Given the description of an element on the screen output the (x, y) to click on. 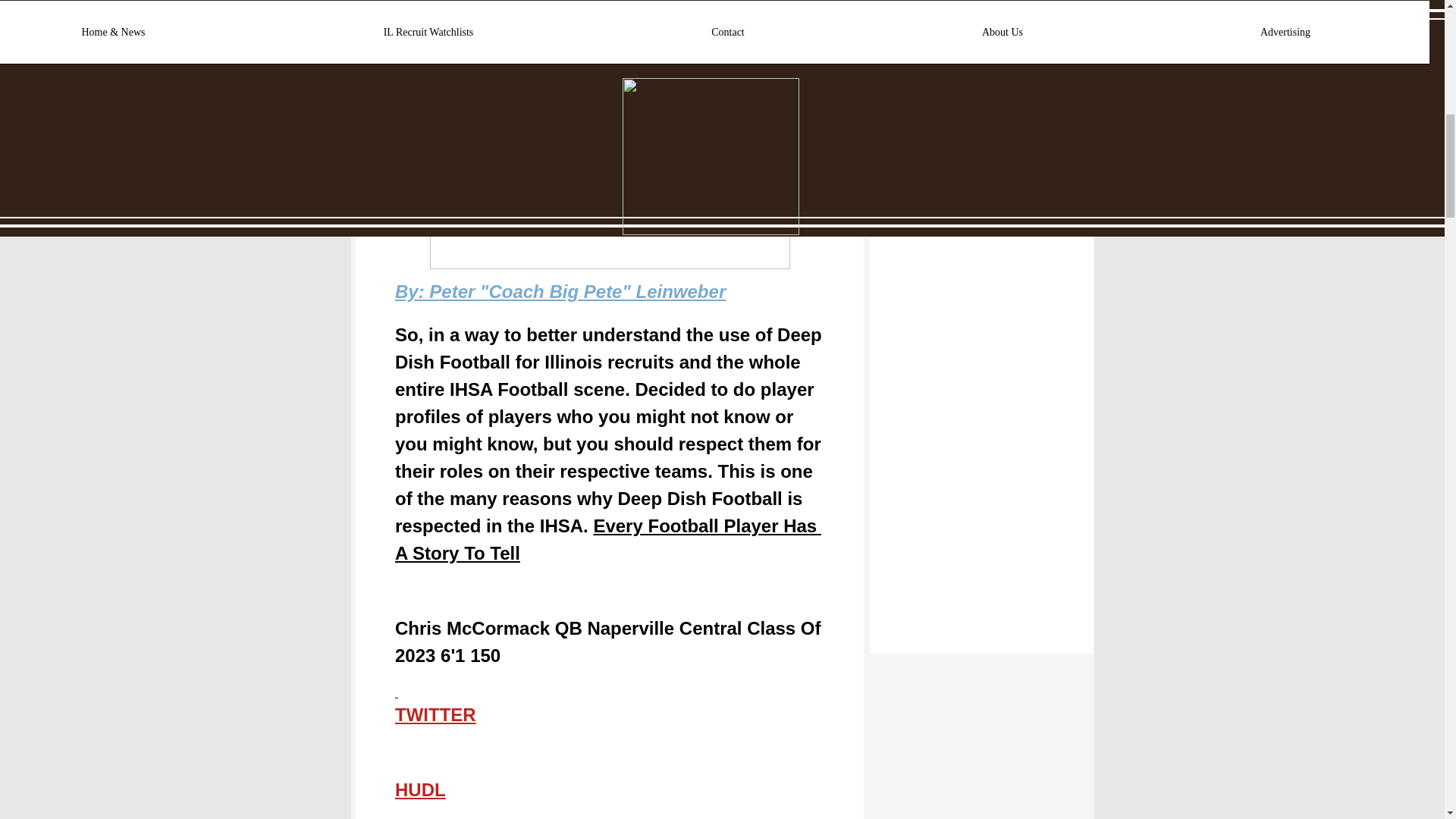
TWITTER (435, 717)
: Peter "Coach Big Pete" Leinweber (571, 294)
HUDL (419, 792)
